Given the description of an element on the screen output the (x, y) to click on. 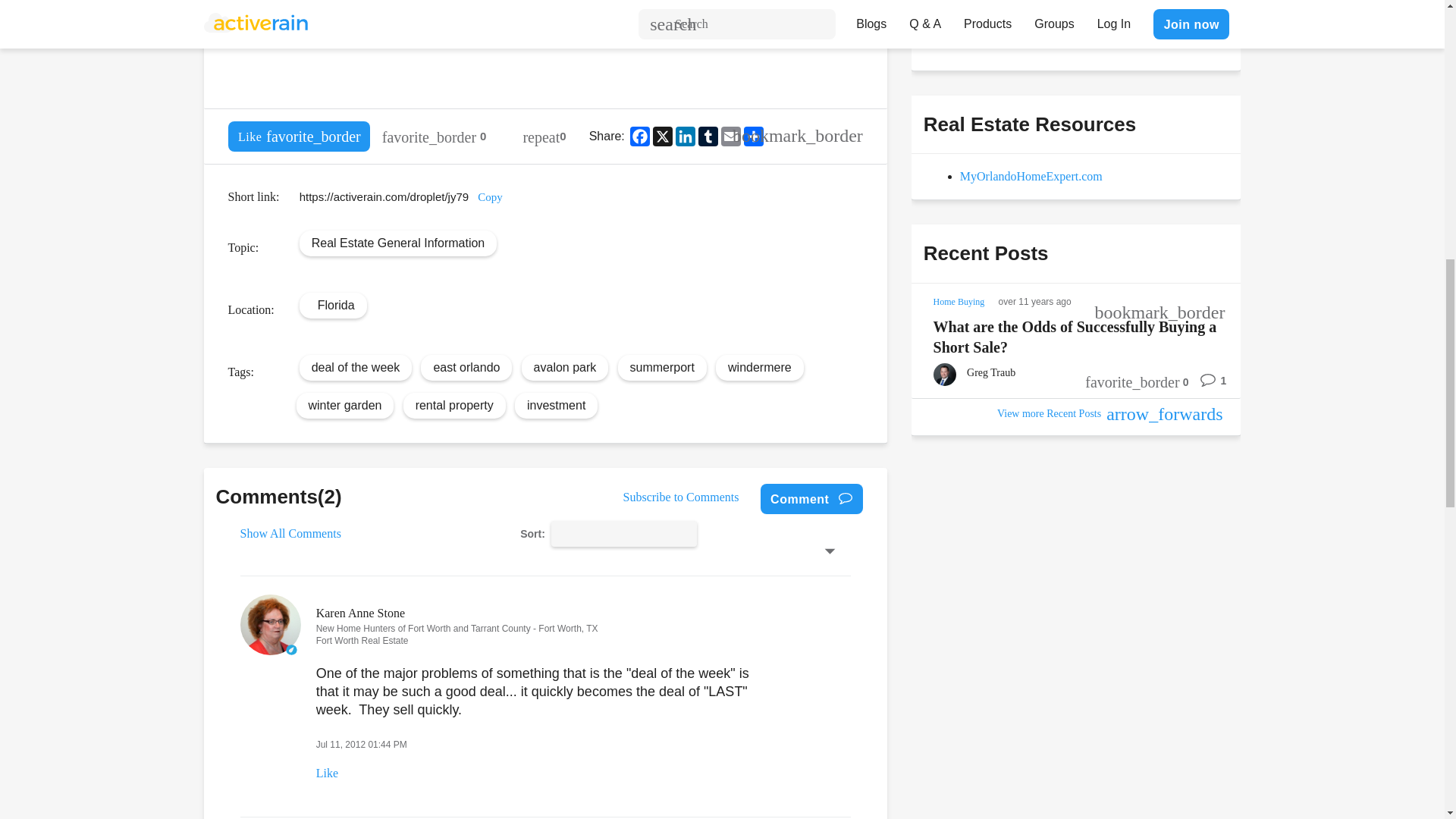
deal of the week (355, 367)
This entry hasn't been re-blogged (544, 136)
east orlando (465, 367)
www.mysummerporthomepage.com (709, 6)
Facebook (639, 136)
Tumblr (708, 136)
Email (730, 136)
repeat 0 (544, 136)
Florida (336, 305)
Send Message (978, 30)
